Given the description of an element on the screen output the (x, y) to click on. 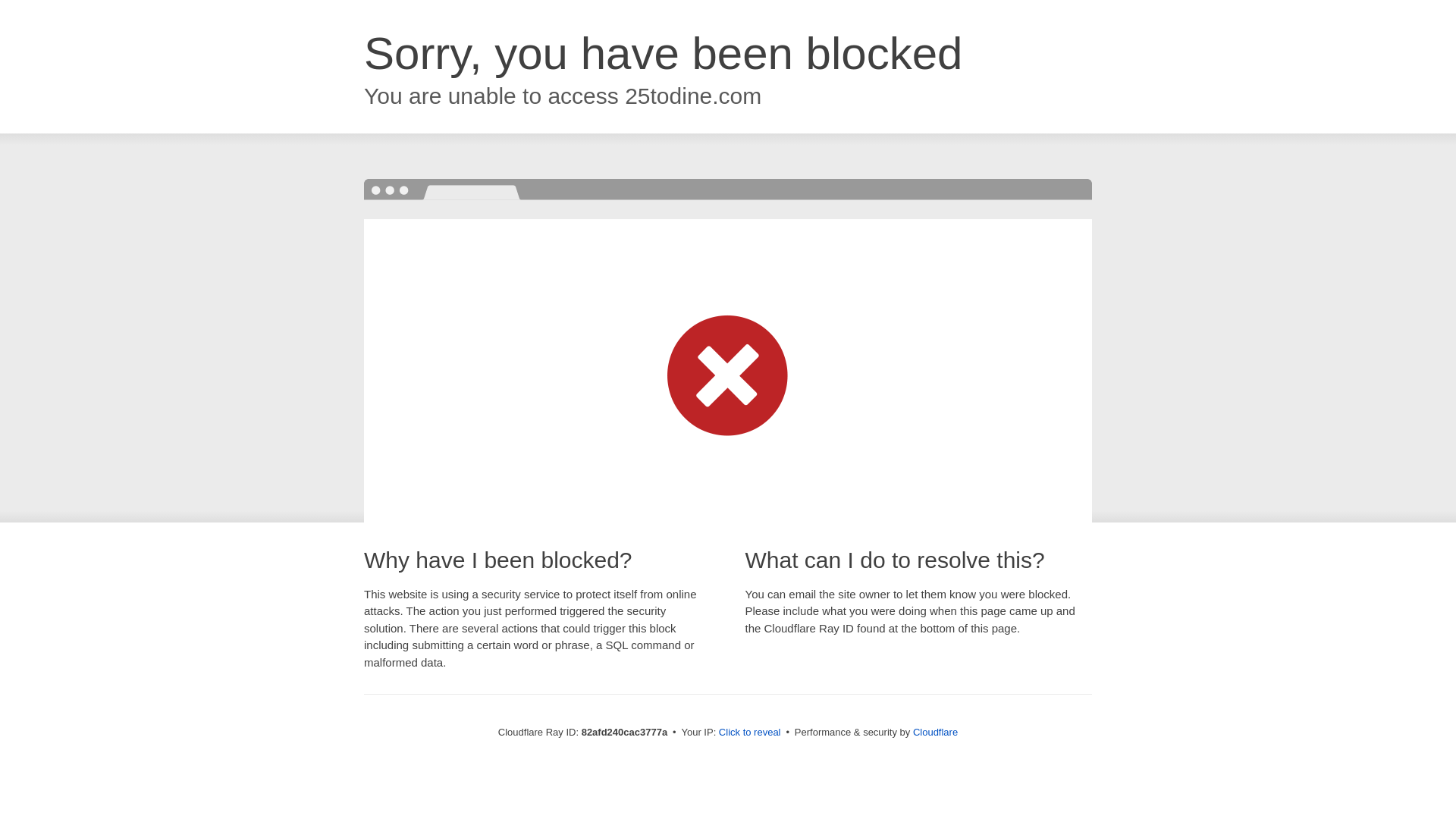
Cloudflare Element type: text (935, 731)
Click to reveal Element type: text (749, 732)
